Given the description of an element on the screen output the (x, y) to click on. 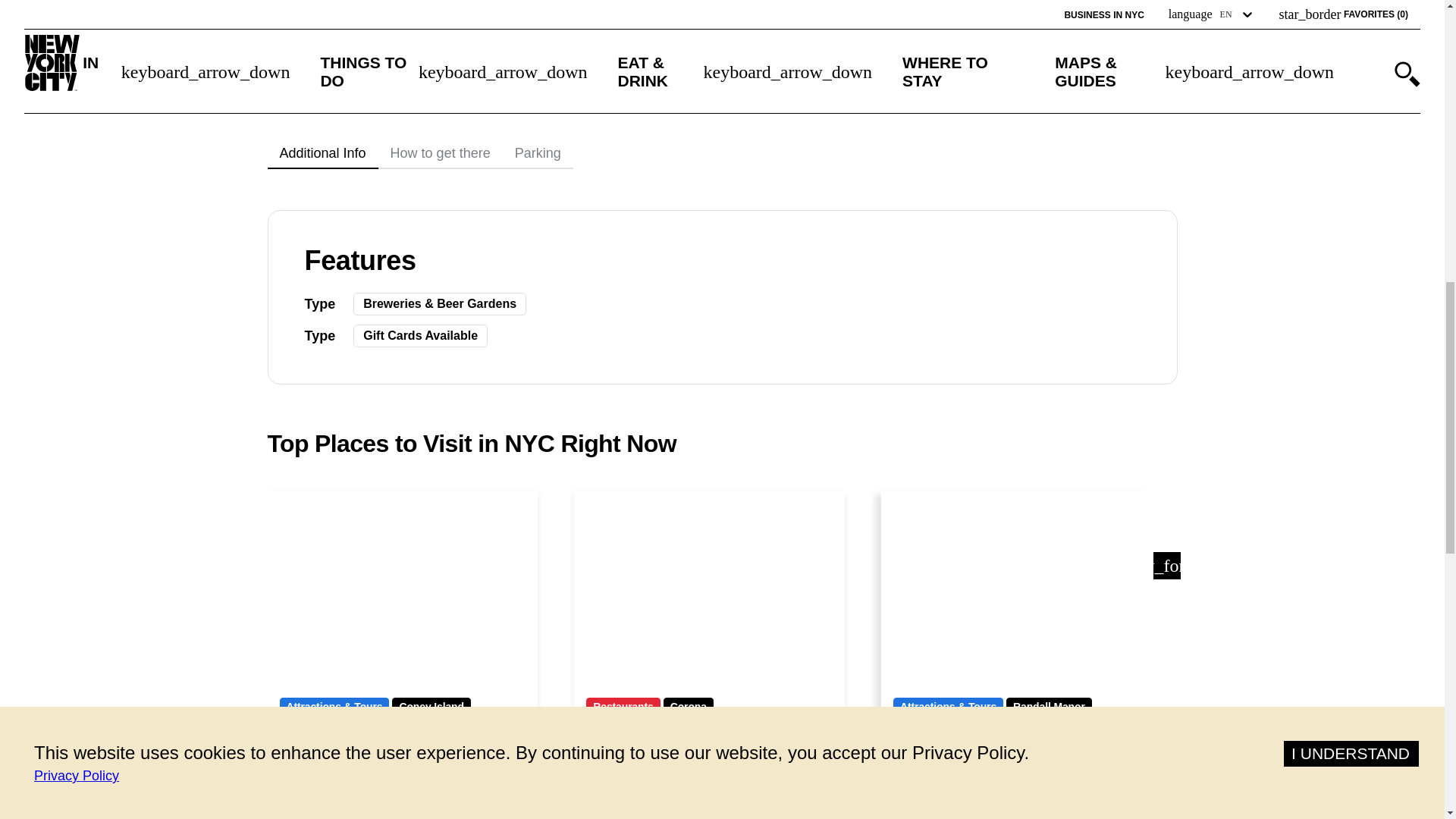
Parking (537, 153)
Facebook (777, 20)
Additional Info (321, 153)
How to get there (440, 153)
